Given the description of an element on the screen output the (x, y) to click on. 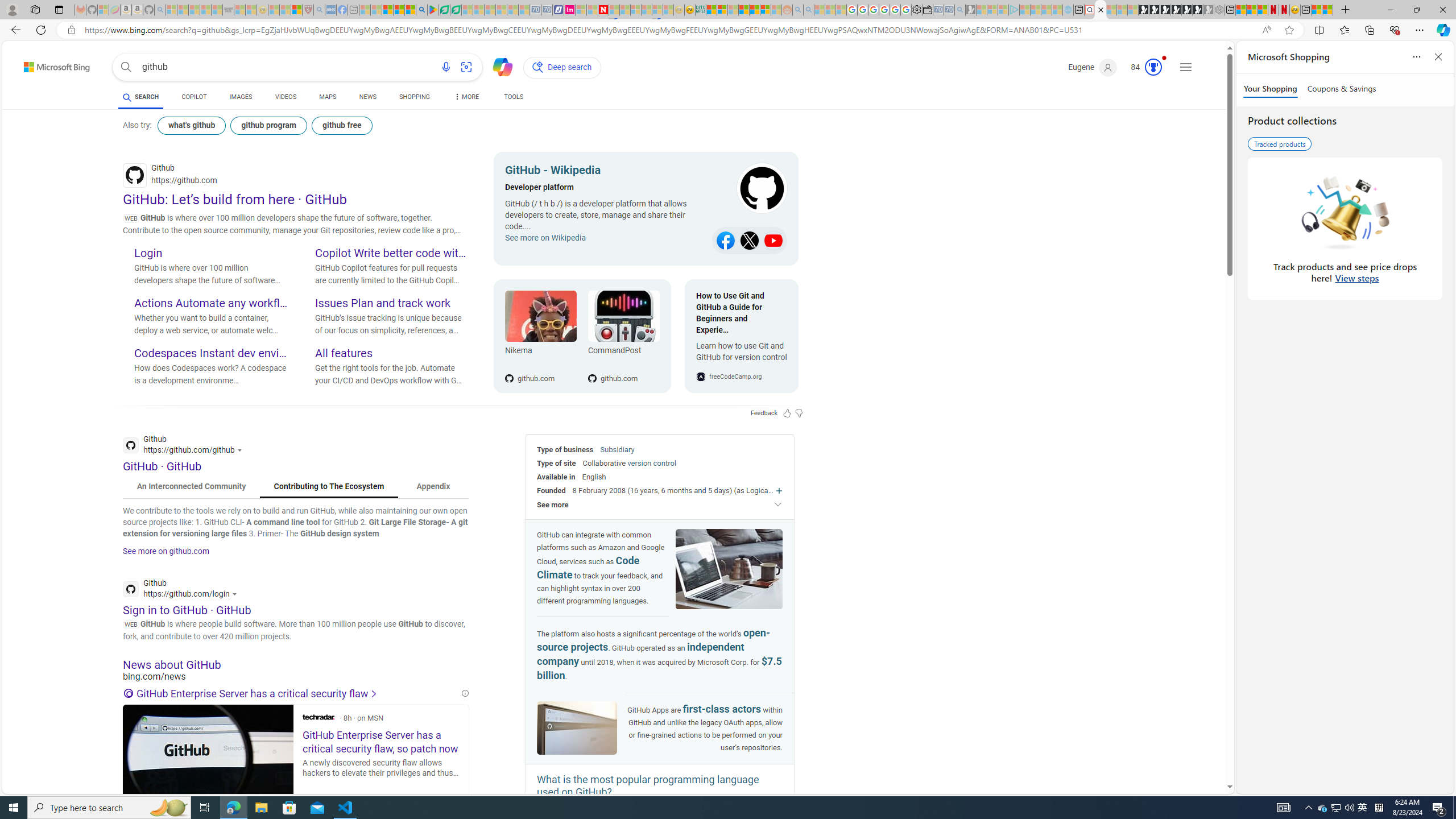
google - Search (421, 9)
Nikema Nikema github.com (540, 335)
Class: b_sitlk (773, 240)
Play Cave FRVR in your browser | Games from Microsoft Start (1164, 9)
